Given the description of an element on the screen output the (x, y) to click on. 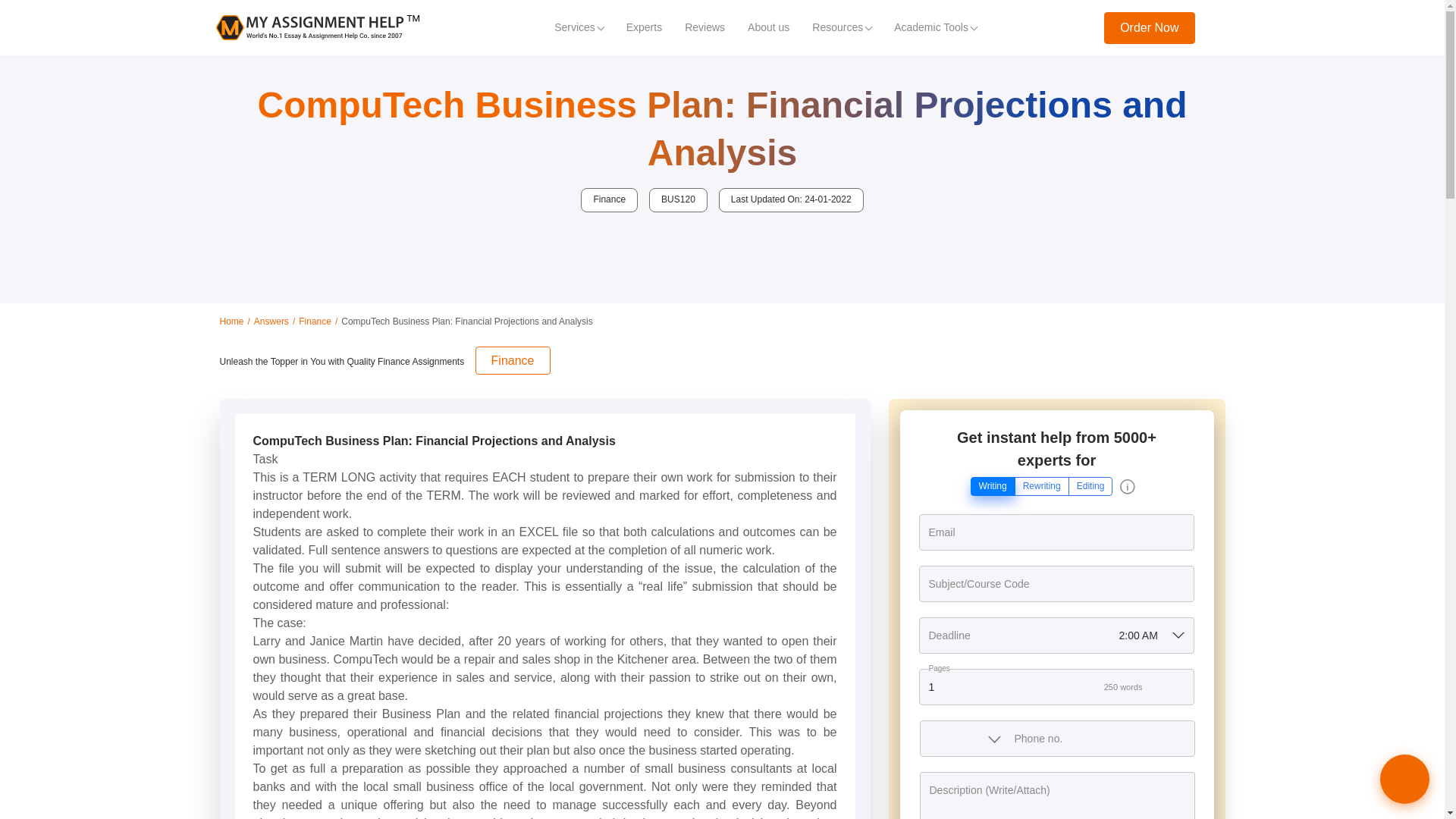
myassignmenthelp (317, 27)
menu (1218, 27)
1 (1055, 687)
Experts (643, 27)
About us (768, 27)
Info (1127, 486)
Services (578, 27)
Reviews (704, 27)
plus (1181, 687)
